Given the description of an element on the screen output the (x, y) to click on. 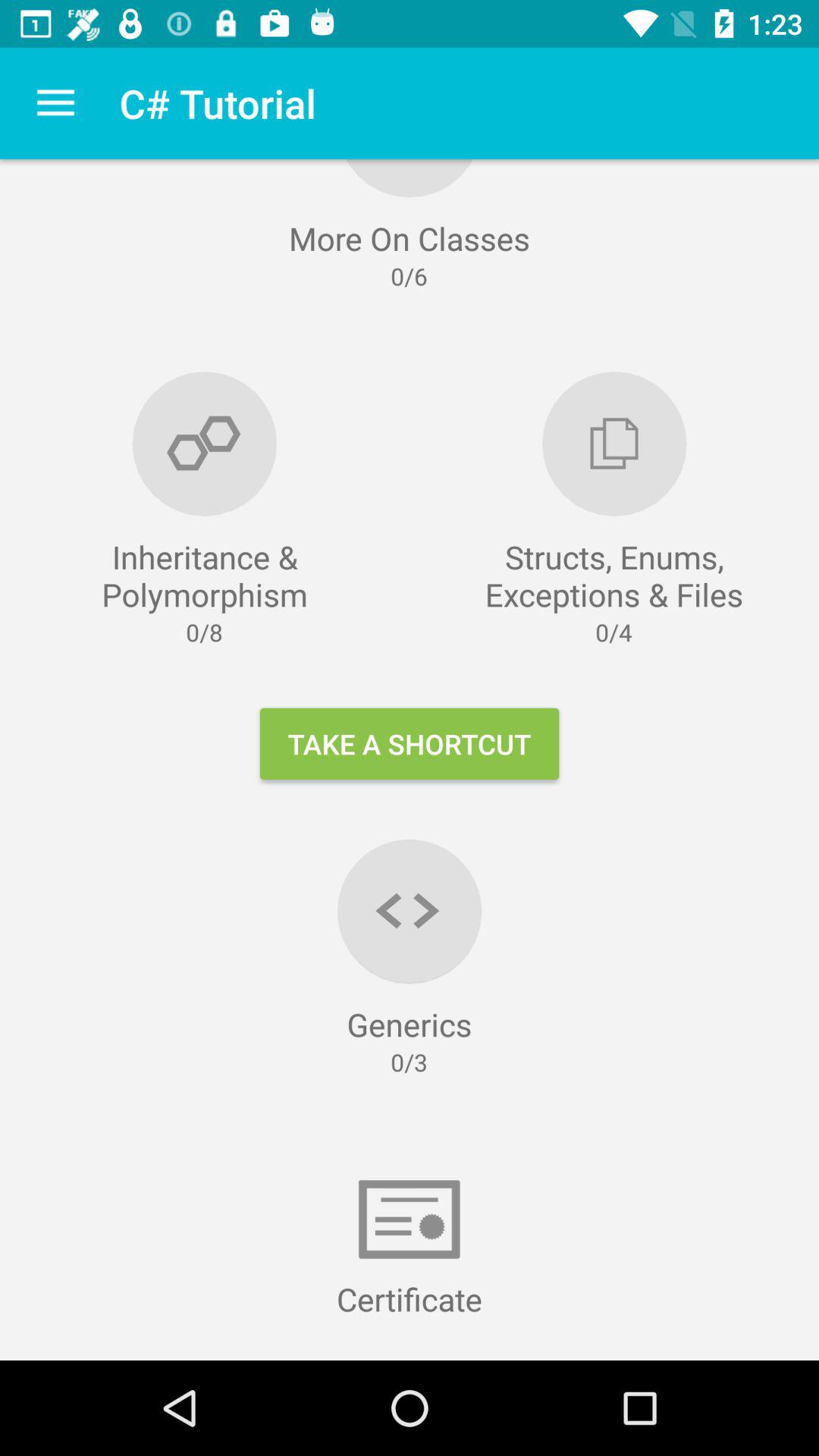
select the option take a shortcut (409, 743)
click left right arrow icon (409, 911)
select the image above structs enums exceptions  files 04 (614, 443)
